Given the description of an element on the screen output the (x, y) to click on. 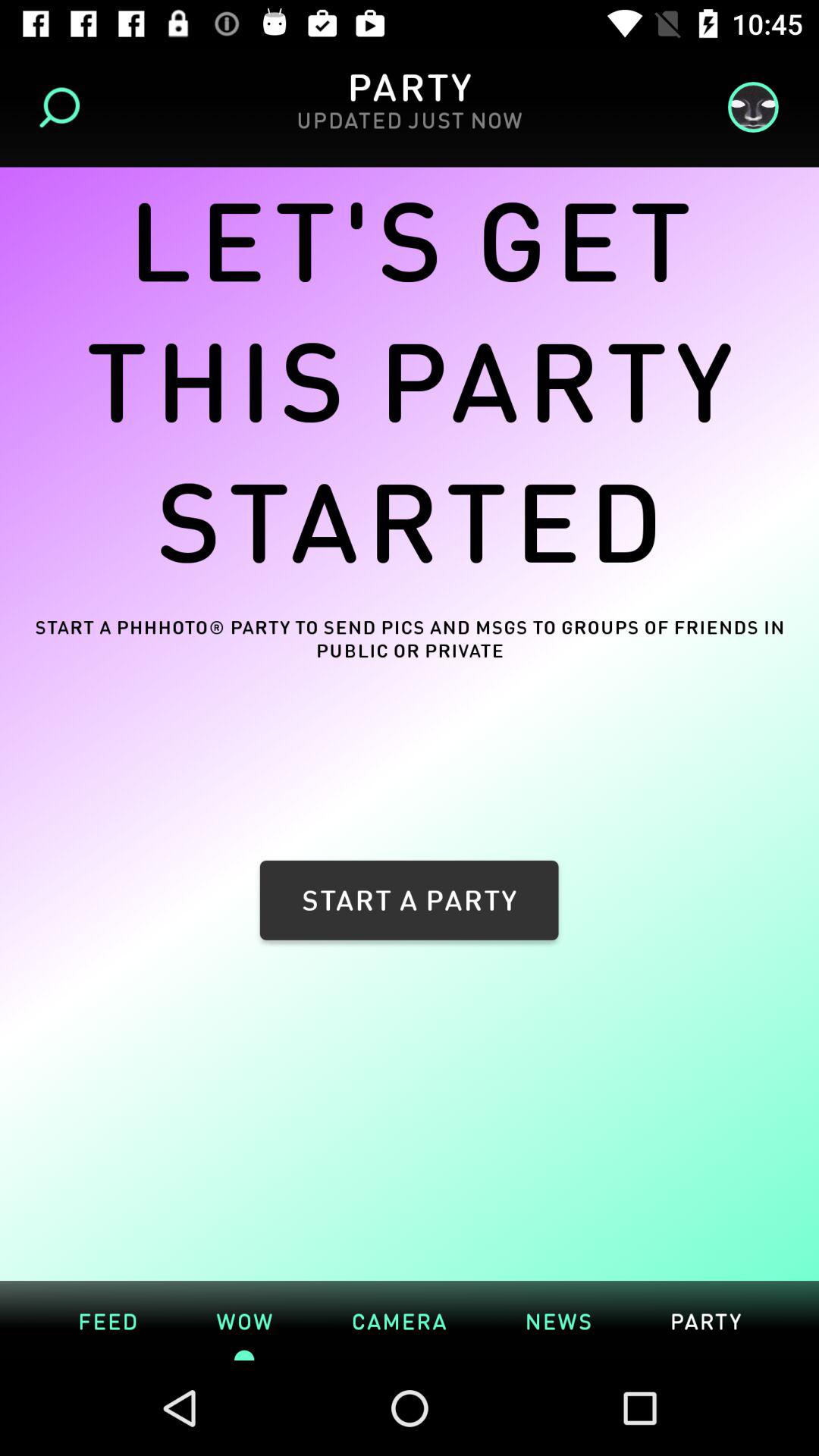
launch the item below the start a party (558, 1320)
